Given the description of an element on the screen output the (x, y) to click on. 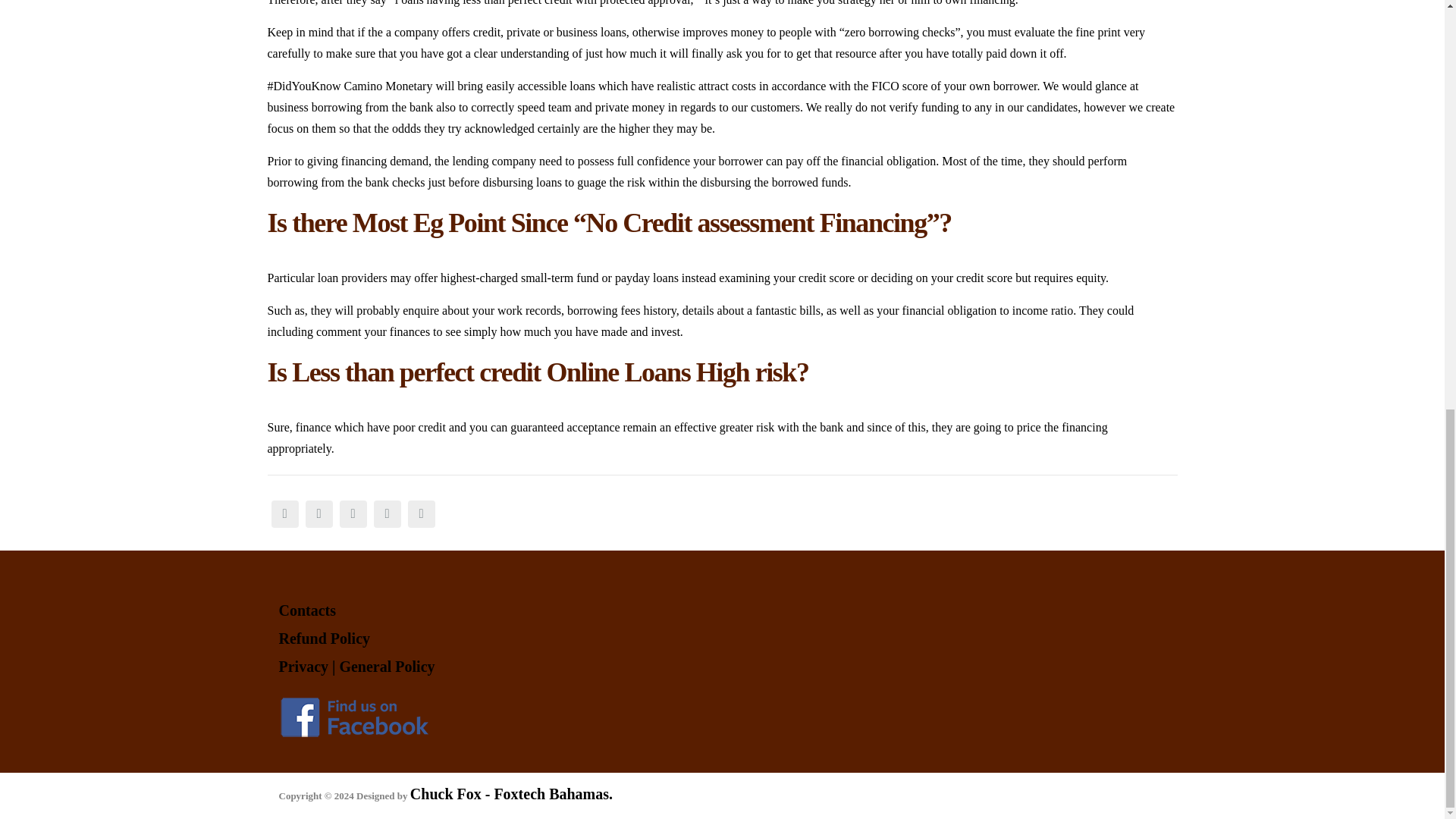
Chuck Fox - Foxtech Bahamas. (511, 793)
Contacts (307, 610)
Refund Policy (325, 638)
